Given the description of an element on the screen output the (x, y) to click on. 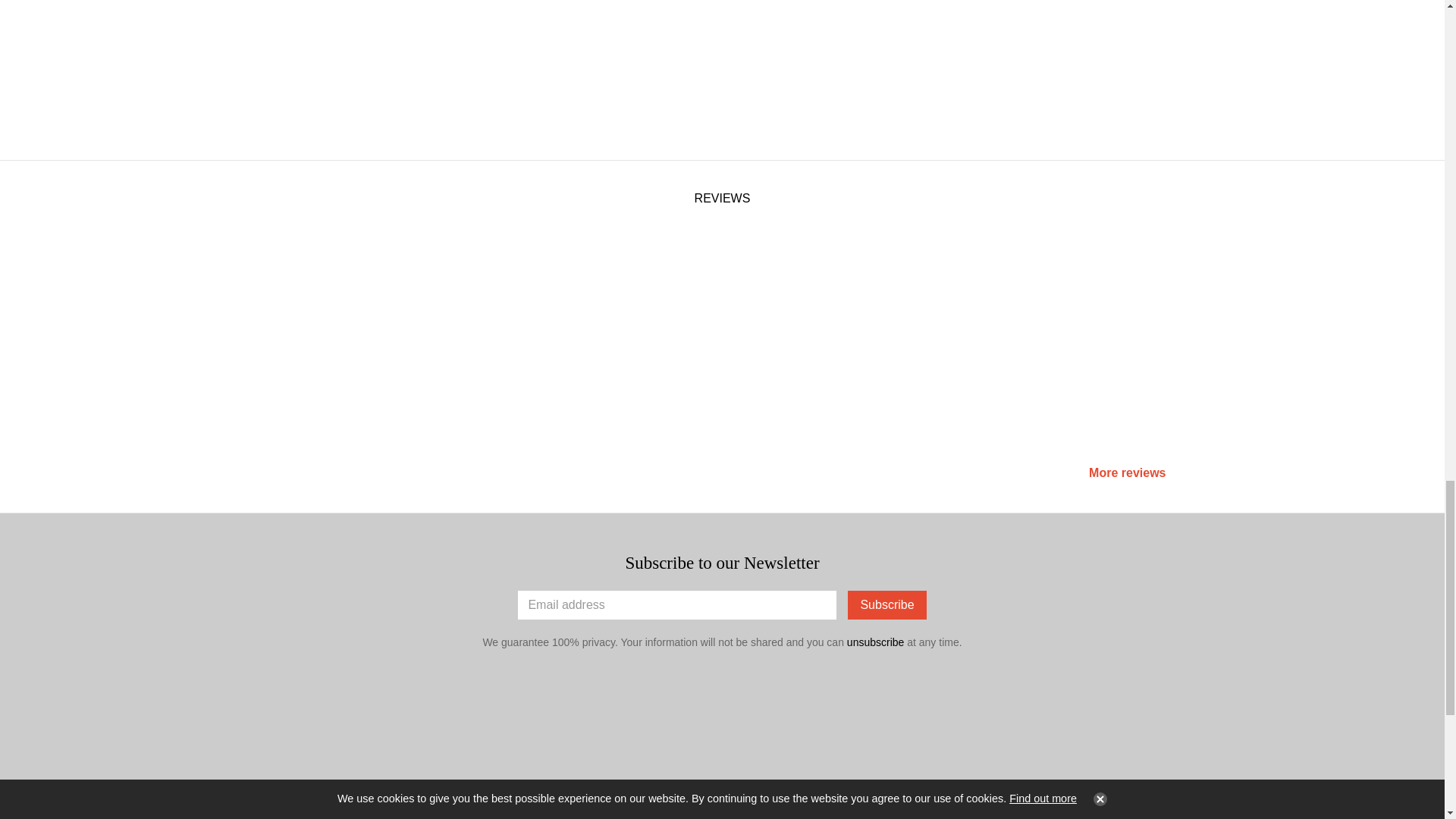
Subscribe (886, 604)
